Given the description of an element on the screen output the (x, y) to click on. 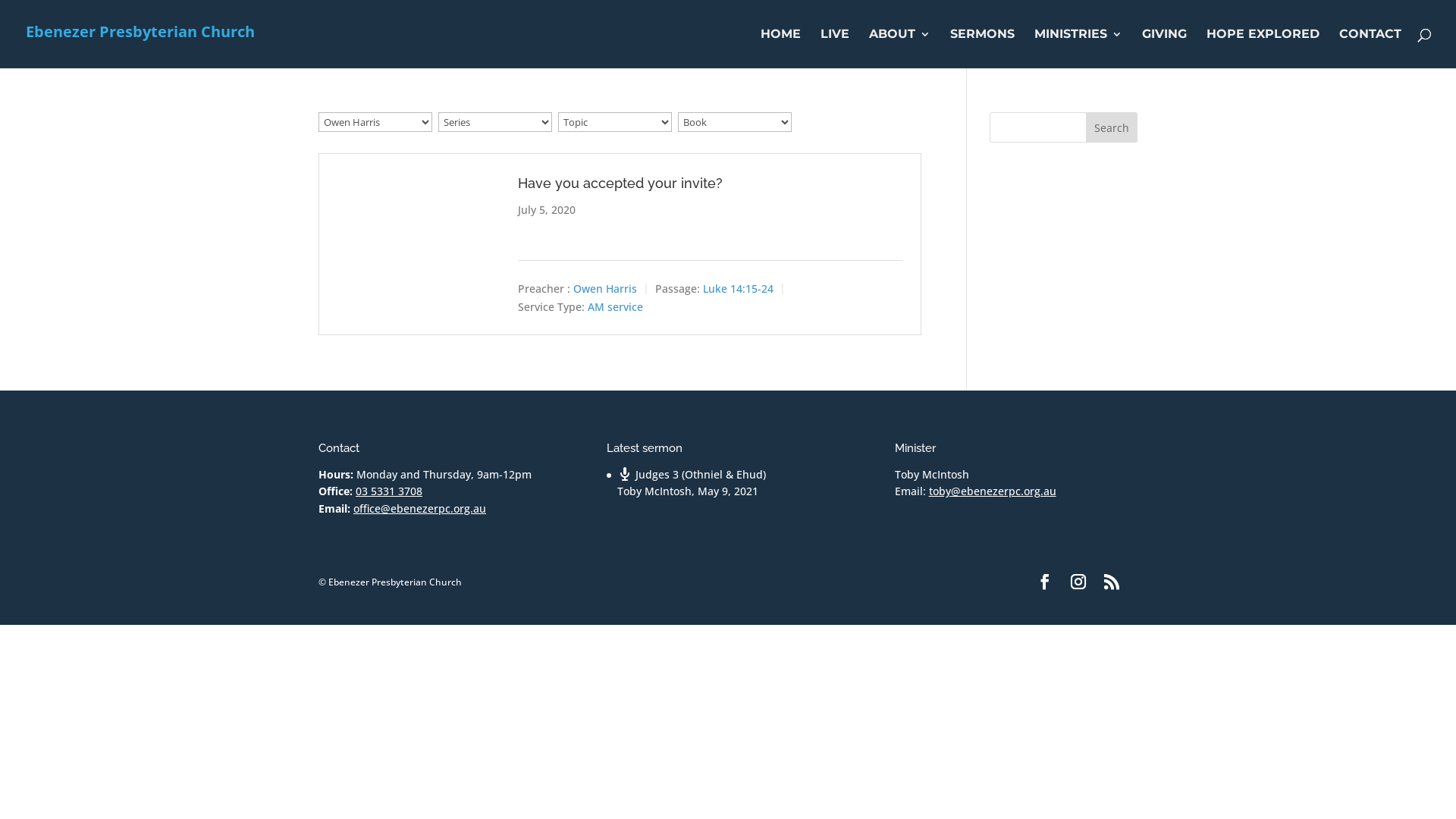
LIVE Element type: text (834, 48)
office@ebenezerpc.org.au Element type: text (419, 508)
MINISTRIES Element type: text (1078, 48)
03 5331 3708 Element type: text (388, 490)
Ebenezer Presbyterian Church Element type: text (139, 32)
CONTACT Element type: text (1370, 48)
Have you accepted your invite? Element type: text (619, 183)
Judges 3 (Othniel & Ehud) Element type: text (691, 474)
HOME Element type: text (780, 48)
HOPE EXPLORED Element type: text (1262, 48)
AM service Element type: text (615, 306)
SERMONS Element type: text (982, 48)
ABOUT Element type: text (899, 48)
Search Element type: text (1111, 127)
Luke 14:15-24 Element type: text (737, 288)
toby@ebenezerpc.org.au Element type: text (992, 490)
GIVING Element type: text (1164, 48)
Owen Harris Element type: text (605, 288)
